Given the description of an element on the screen output the (x, y) to click on. 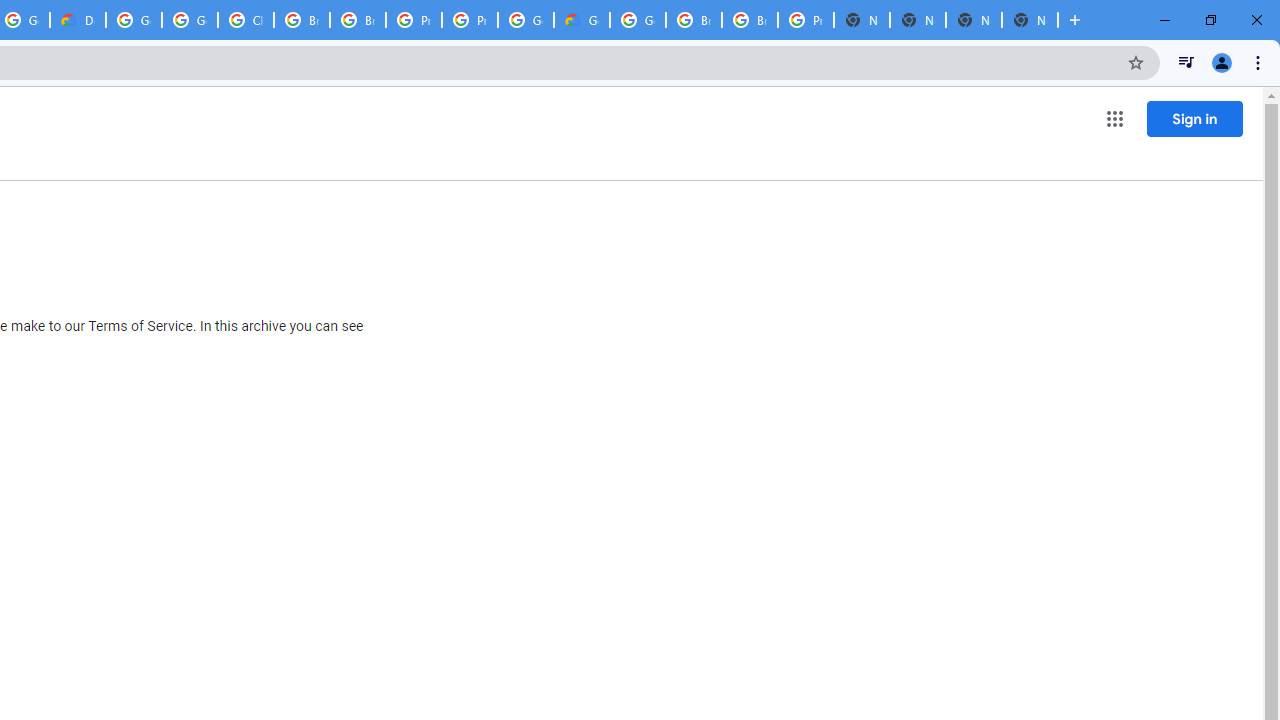
Browse Chrome as a guest - Computer - Google Chrome Help (693, 20)
Google Cloud Platform (637, 20)
New Tab (1030, 20)
New Tab (861, 20)
Google Cloud Platform (525, 20)
Google Cloud Estimate Summary (582, 20)
